Given the description of an element on the screen output the (x, y) to click on. 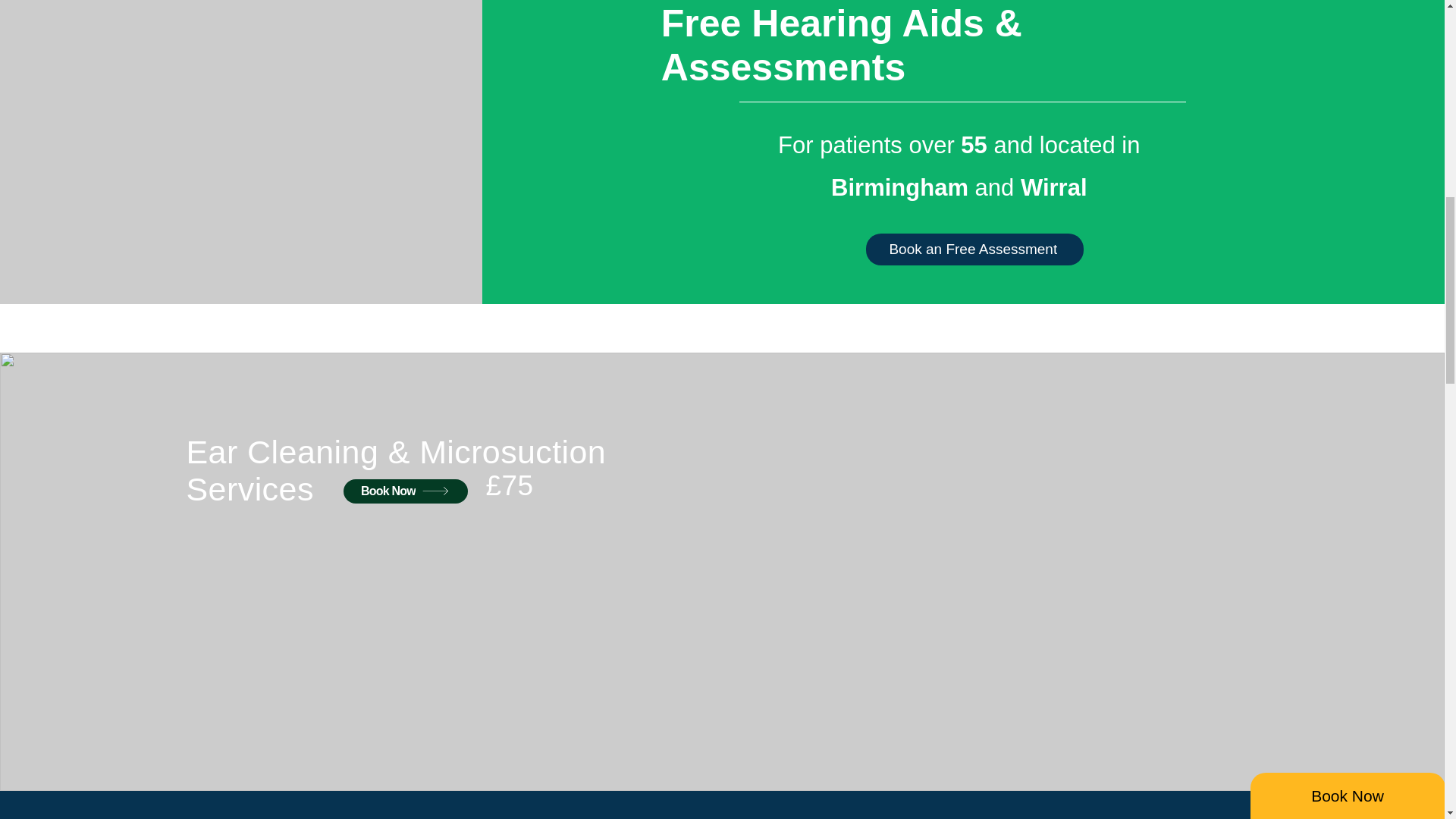
Book an Free Assessment (974, 249)
Book Now (404, 491)
